Given the description of an element on the screen output the (x, y) to click on. 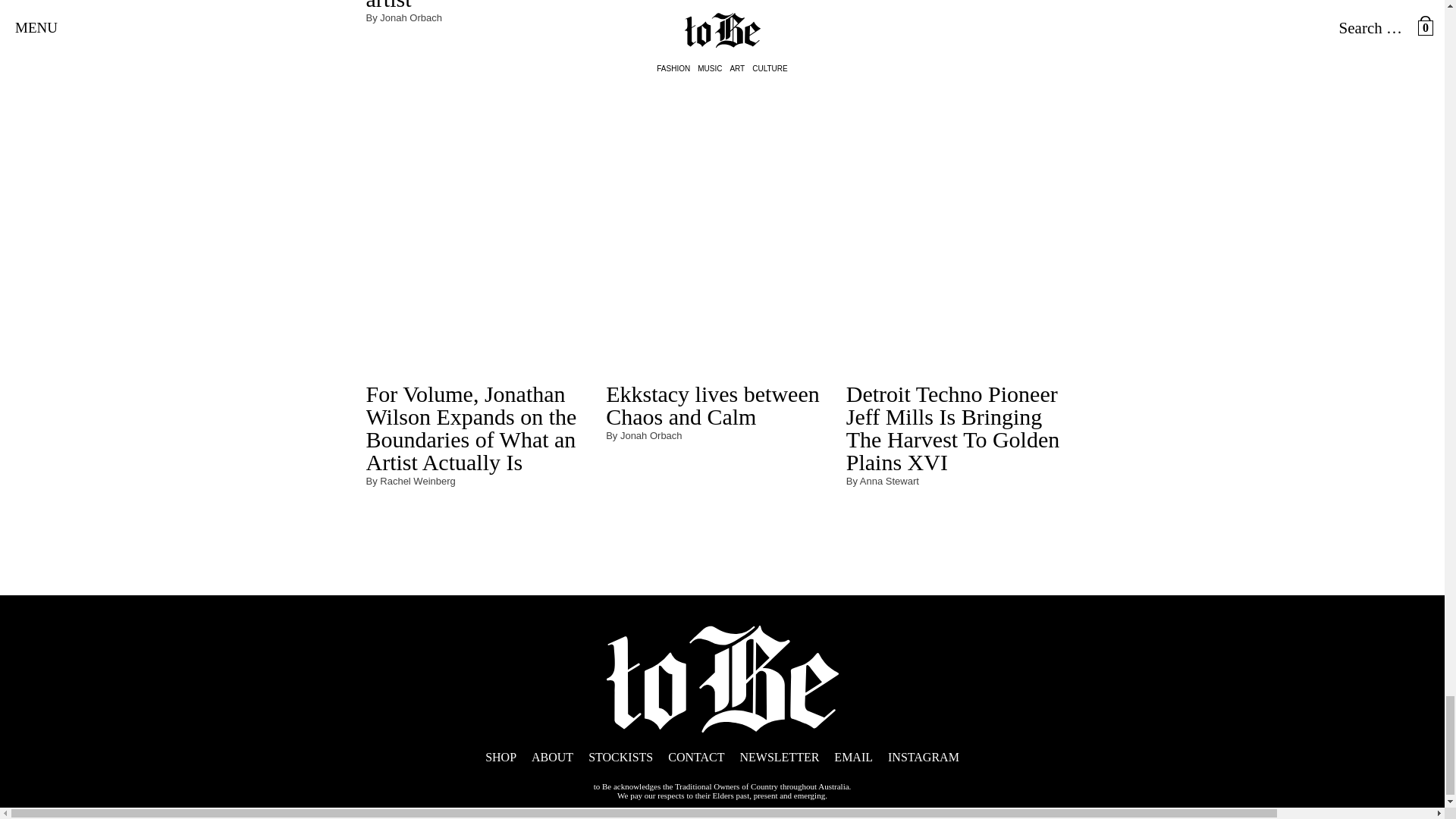
STOCKISTS (620, 757)
NEWSLETTER (778, 757)
CONTACT (695, 757)
ABOUT (552, 757)
SHOP (500, 757)
INSTAGRAM (923, 757)
EMAIL (853, 757)
